Given the description of an element on the screen output the (x, y) to click on. 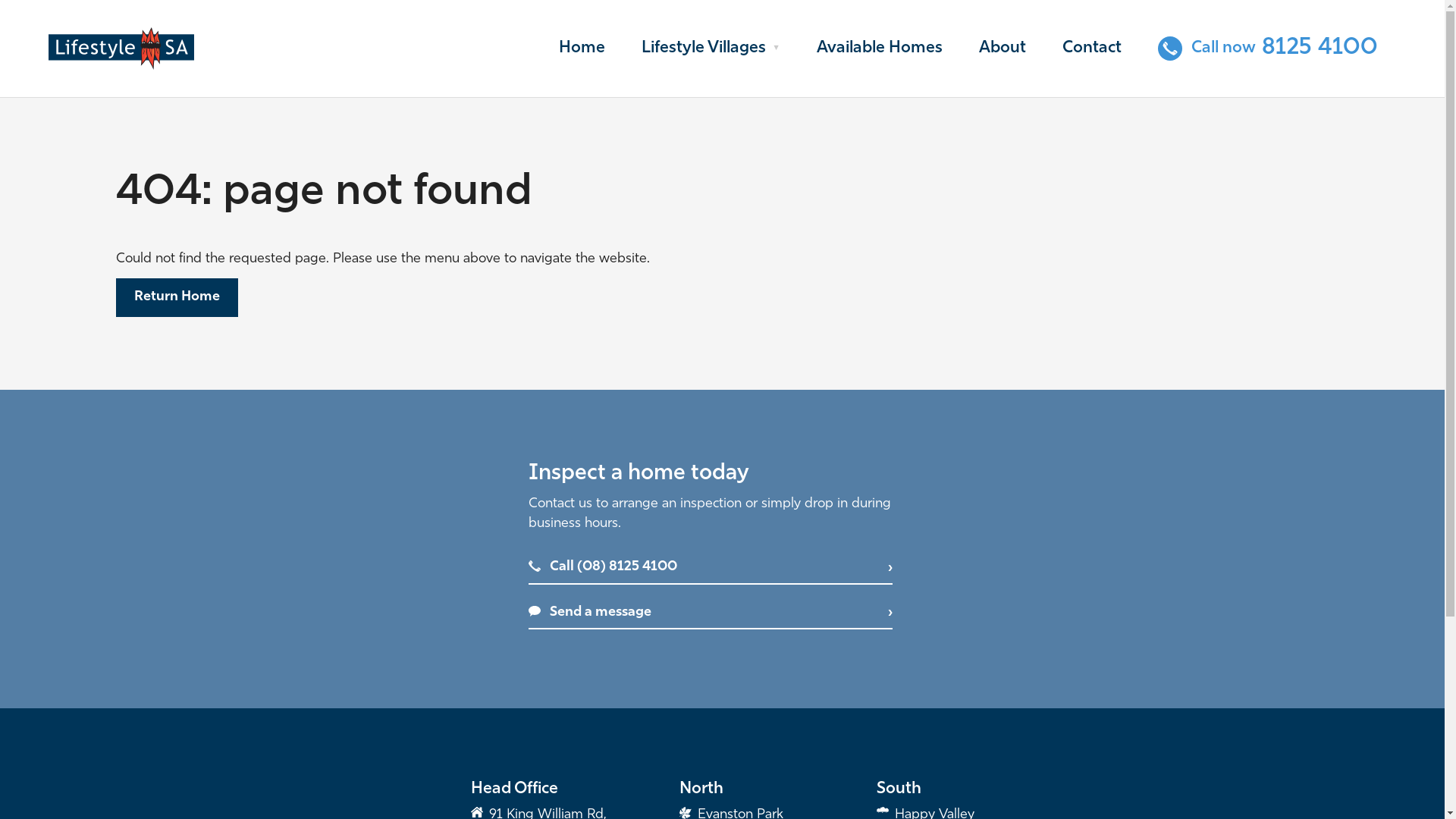
Available Homes Element type: text (879, 48)
Lifestyle Villages Element type: text (710, 48)
About Element type: text (1002, 48)
Send a message Element type: text (709, 612)
Call now
8125 4100 Element type: text (1267, 48)
Call (08) 8125 4100 Element type: text (709, 567)
Contact Element type: text (1091, 48)
Return Home Element type: text (176, 297)
Home Element type: text (581, 48)
